Given the description of an element on the screen output the (x, y) to click on. 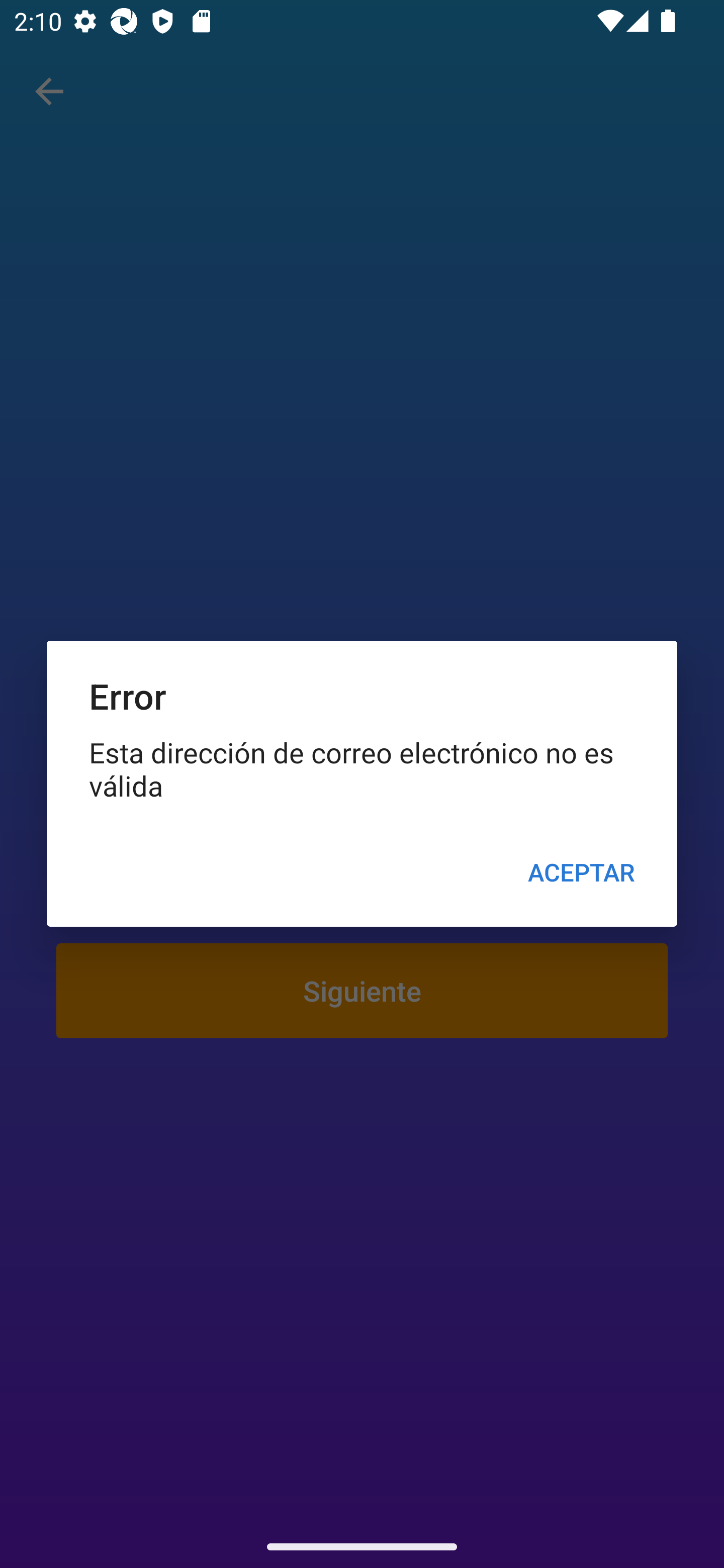
ACEPTAR (580, 872)
